Given the description of an element on the screen output the (x, y) to click on. 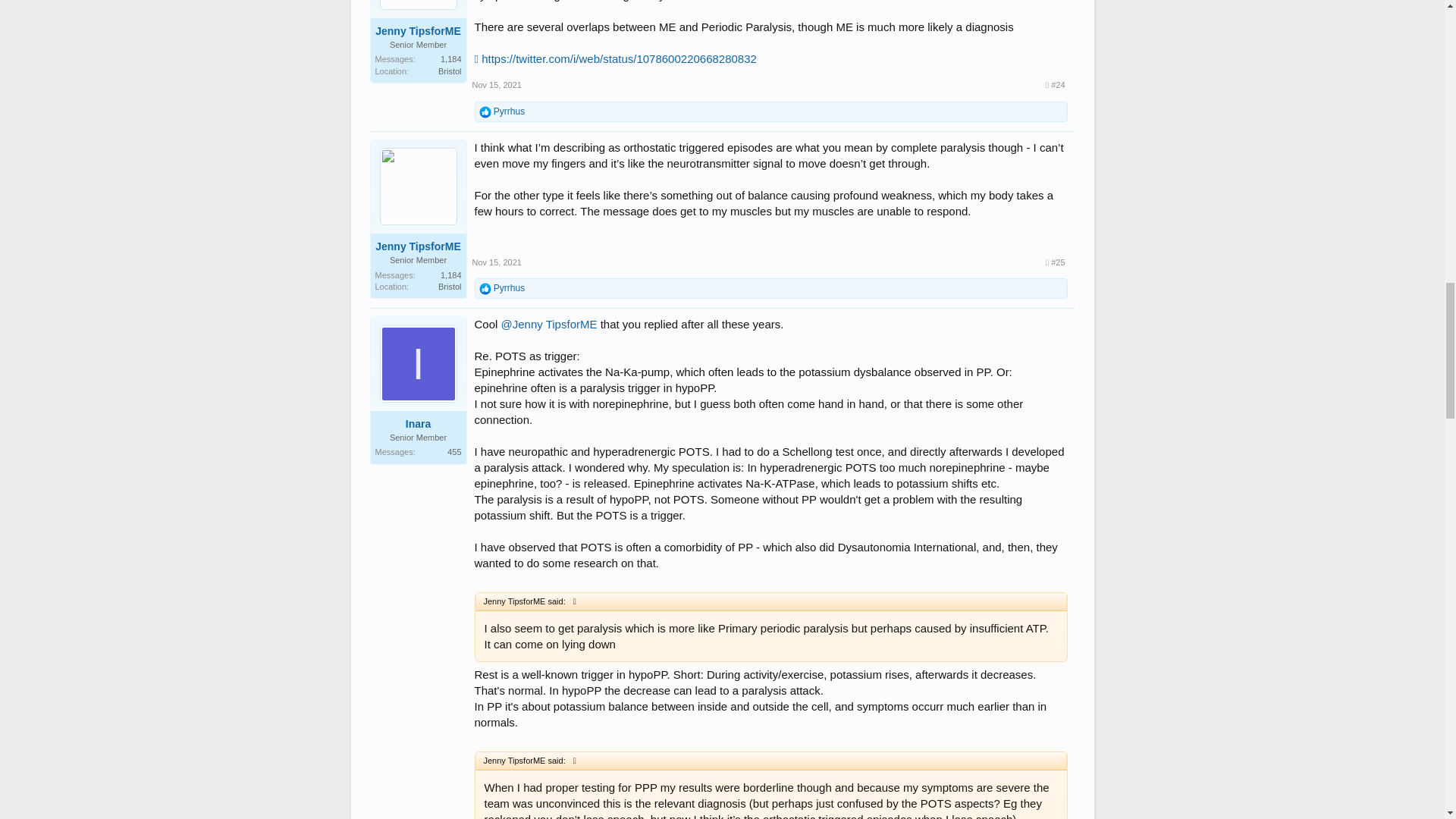
Like (485, 288)
Nov 15, 2021 at 5:40 AM (496, 261)
Nov 15, 2021 at 5:34 AM (496, 84)
Like (485, 111)
